Given the description of an element on the screen output the (x, y) to click on. 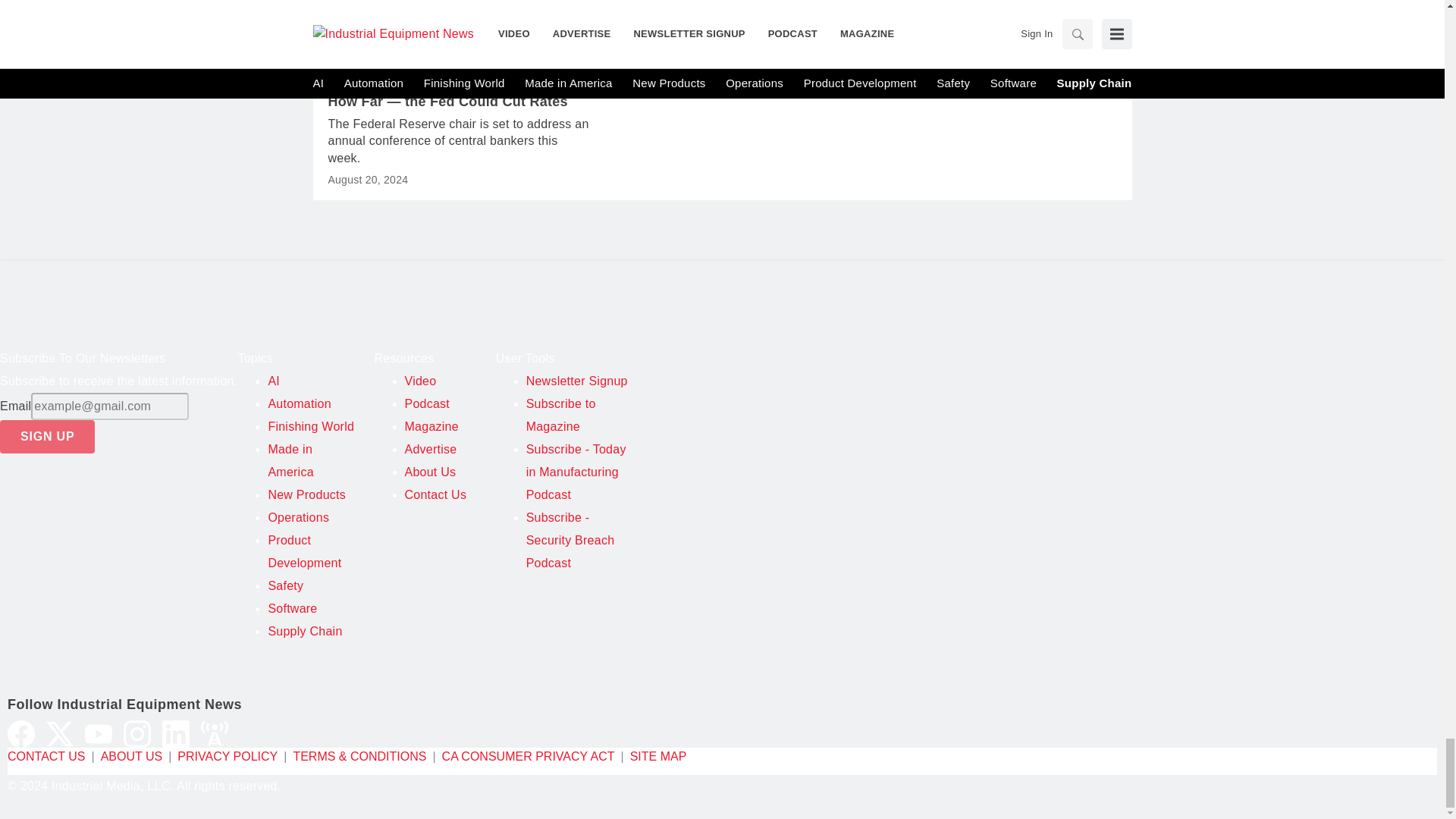
YouTube icon (98, 733)
Facebook icon (20, 733)
LinkedIn icon (175, 733)
Instagram icon (137, 733)
Twitter X icon (60, 733)
